Given the description of an element on the screen output the (x, y) to click on. 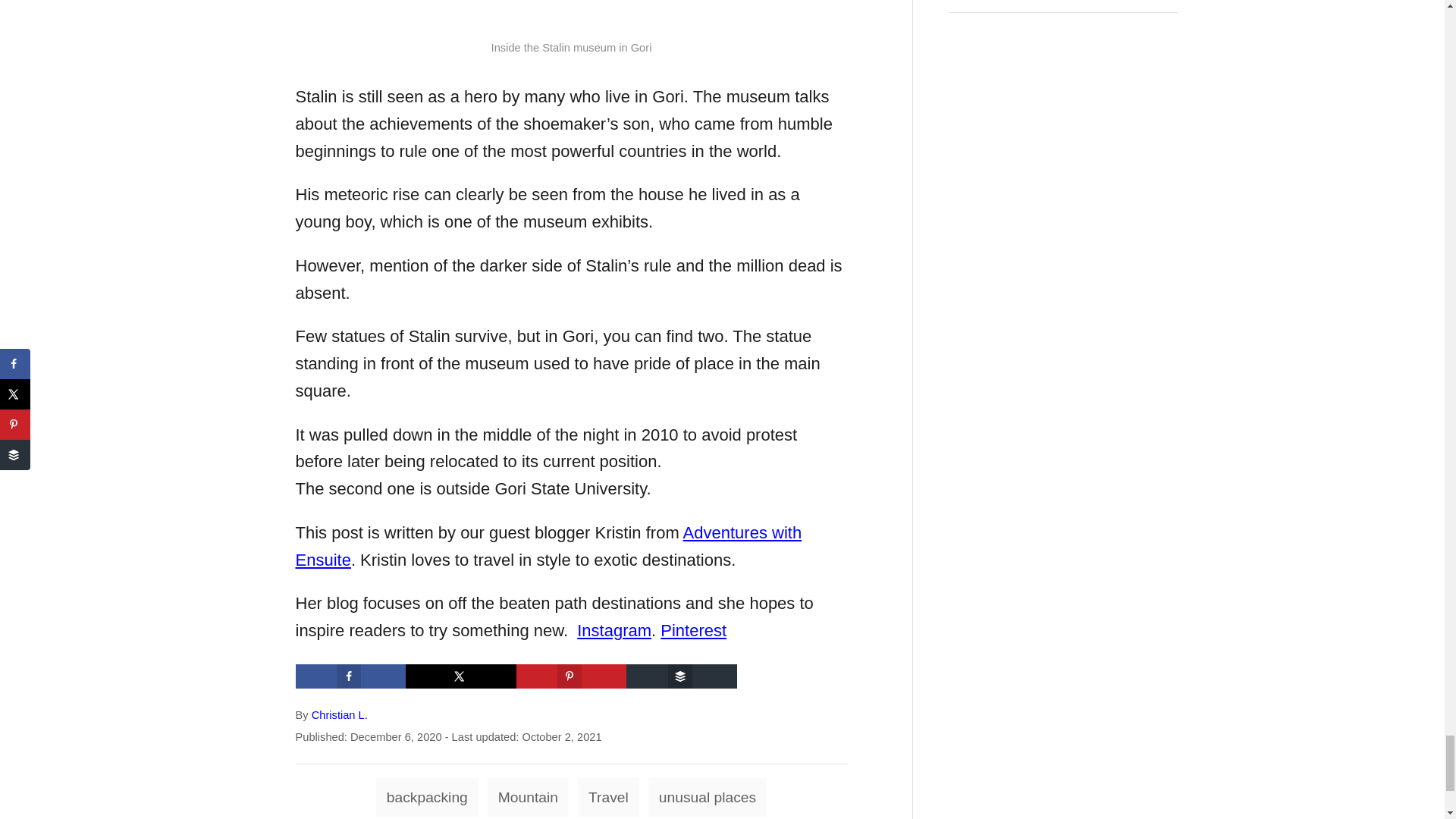
Share on Facebook (350, 676)
Save to Pinterest (571, 676)
Share on X (461, 676)
Share on Buffer (681, 676)
